Given the description of an element on the screen output the (x, y) to click on. 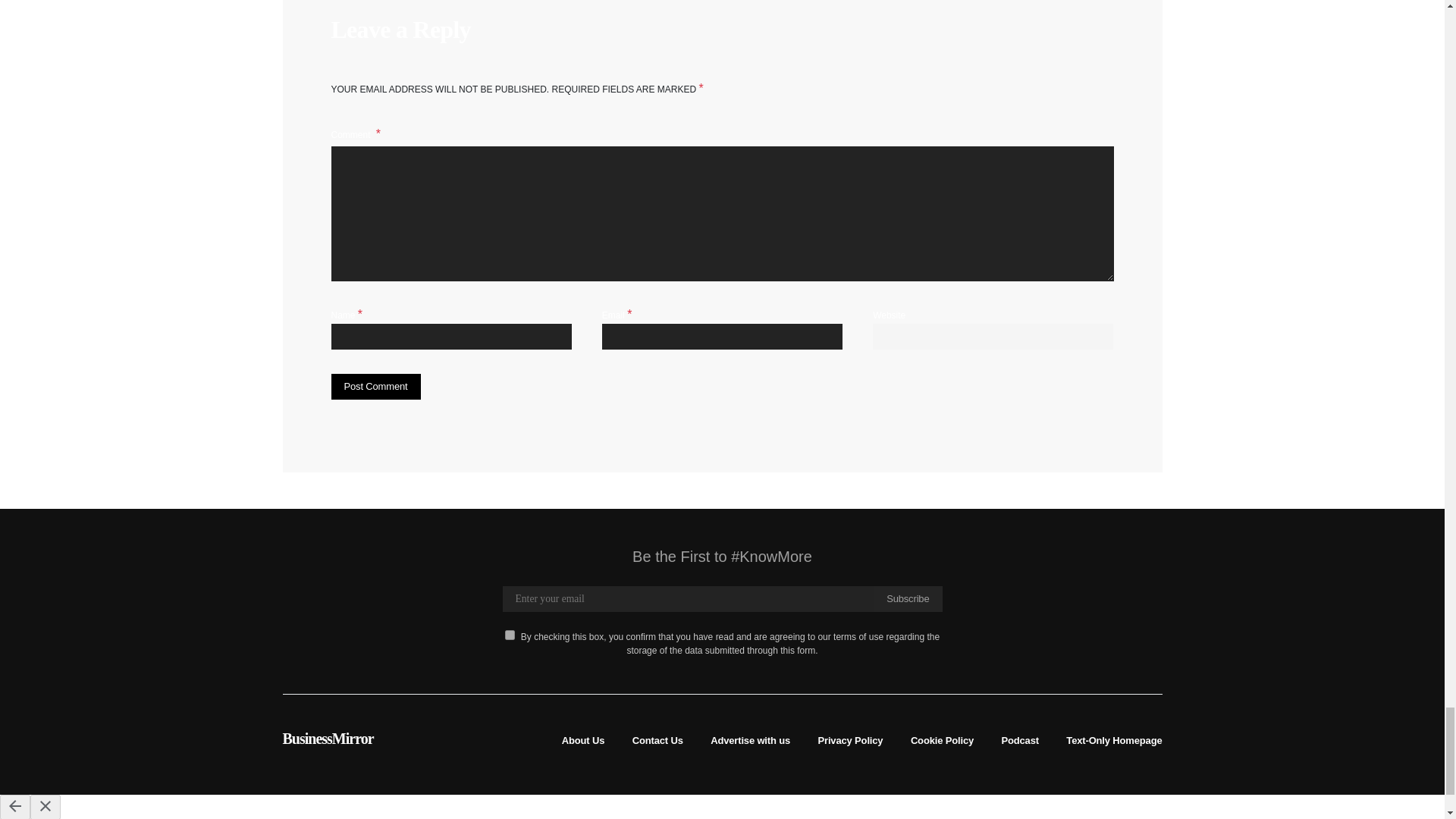
on (510, 634)
Post Comment (375, 386)
